Given the description of an element on the screen output the (x, y) to click on. 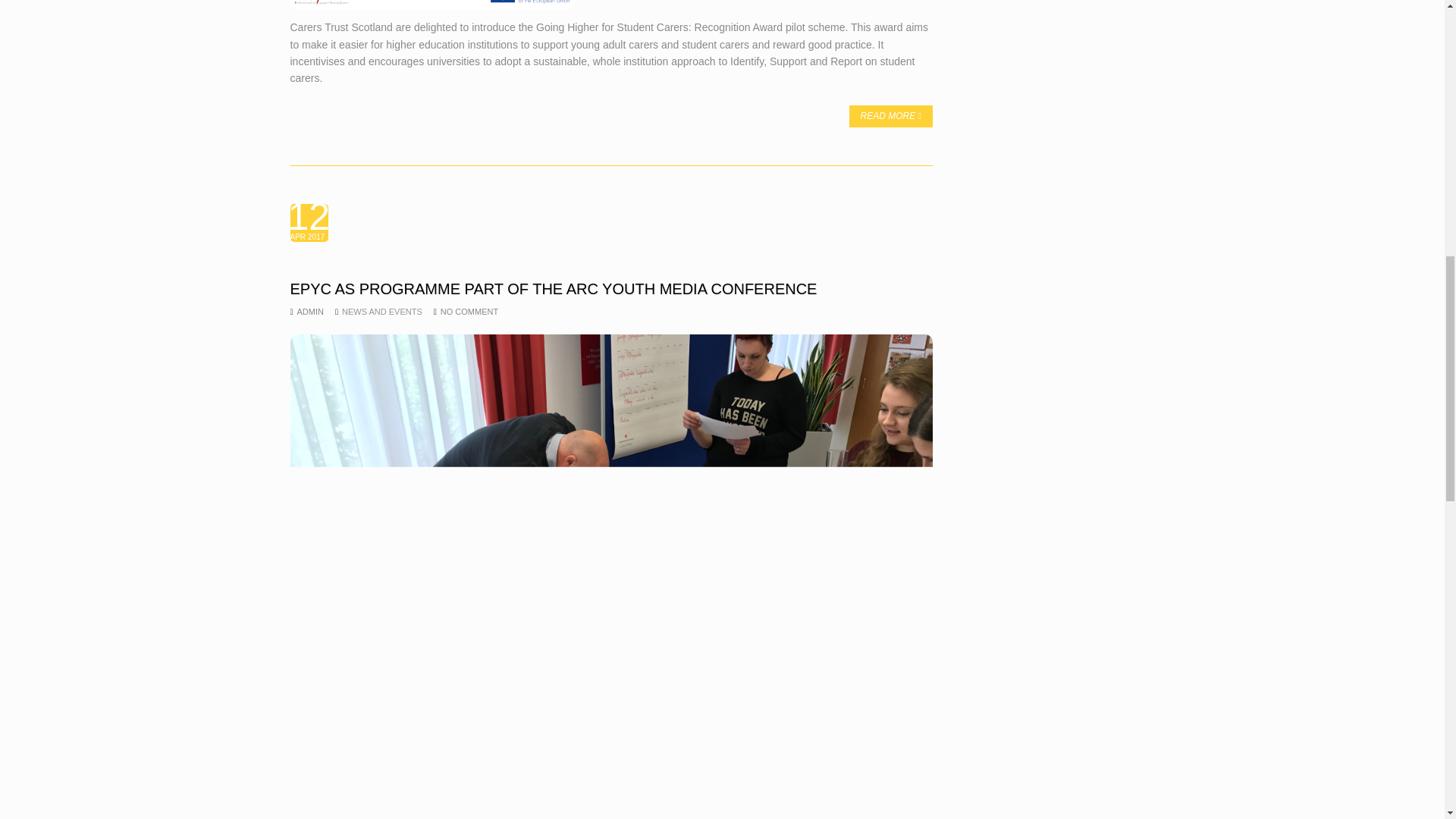
EPYC AS PROGRAMME PART OF THE ARC YOUTH MEDIA CONFERENCE (611, 289)
